Given the description of an element on the screen output the (x, y) to click on. 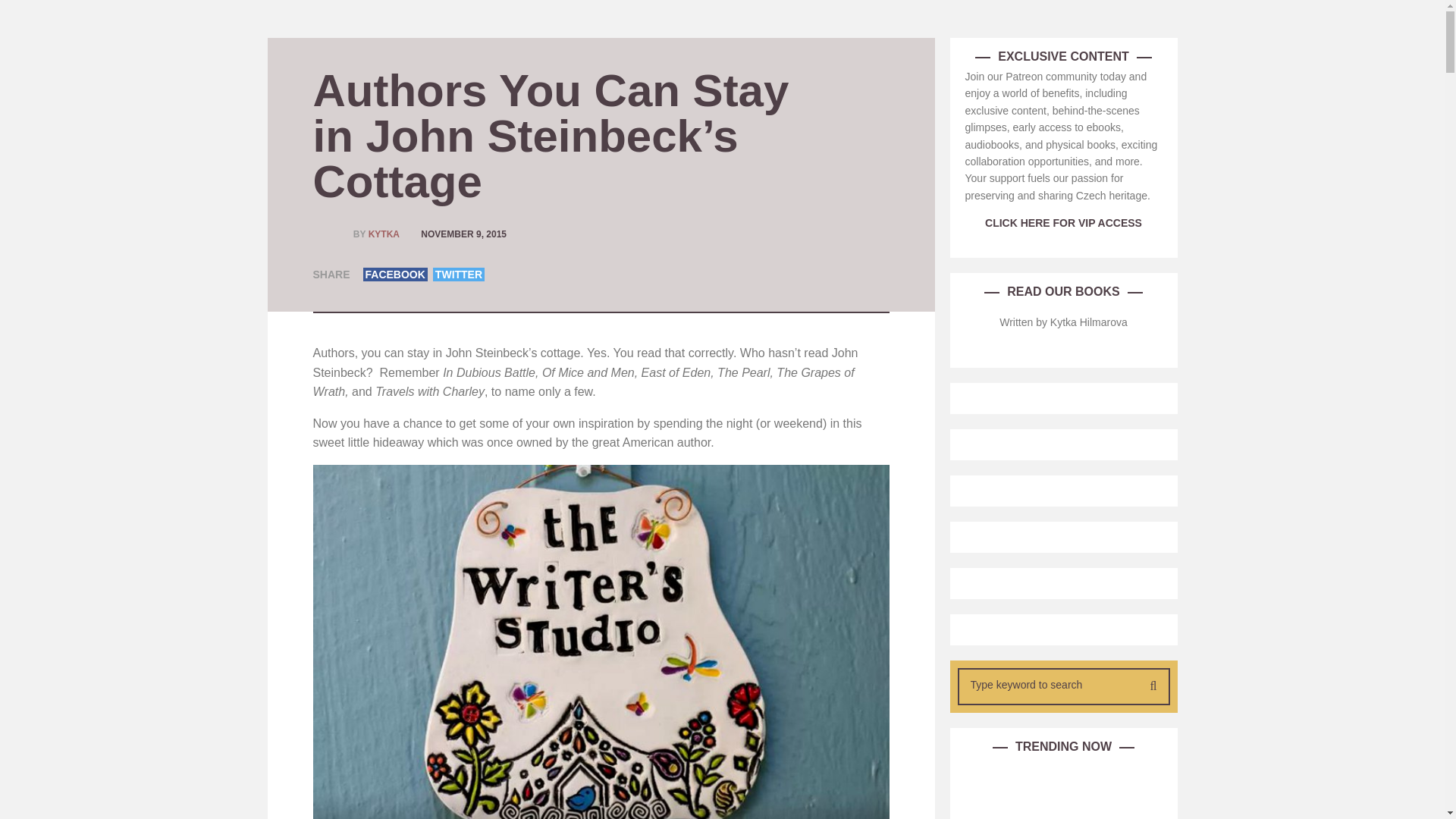
Type keyword to search (1049, 684)
Type keyword to search (1049, 684)
